Given the description of an element on the screen output the (x, y) to click on. 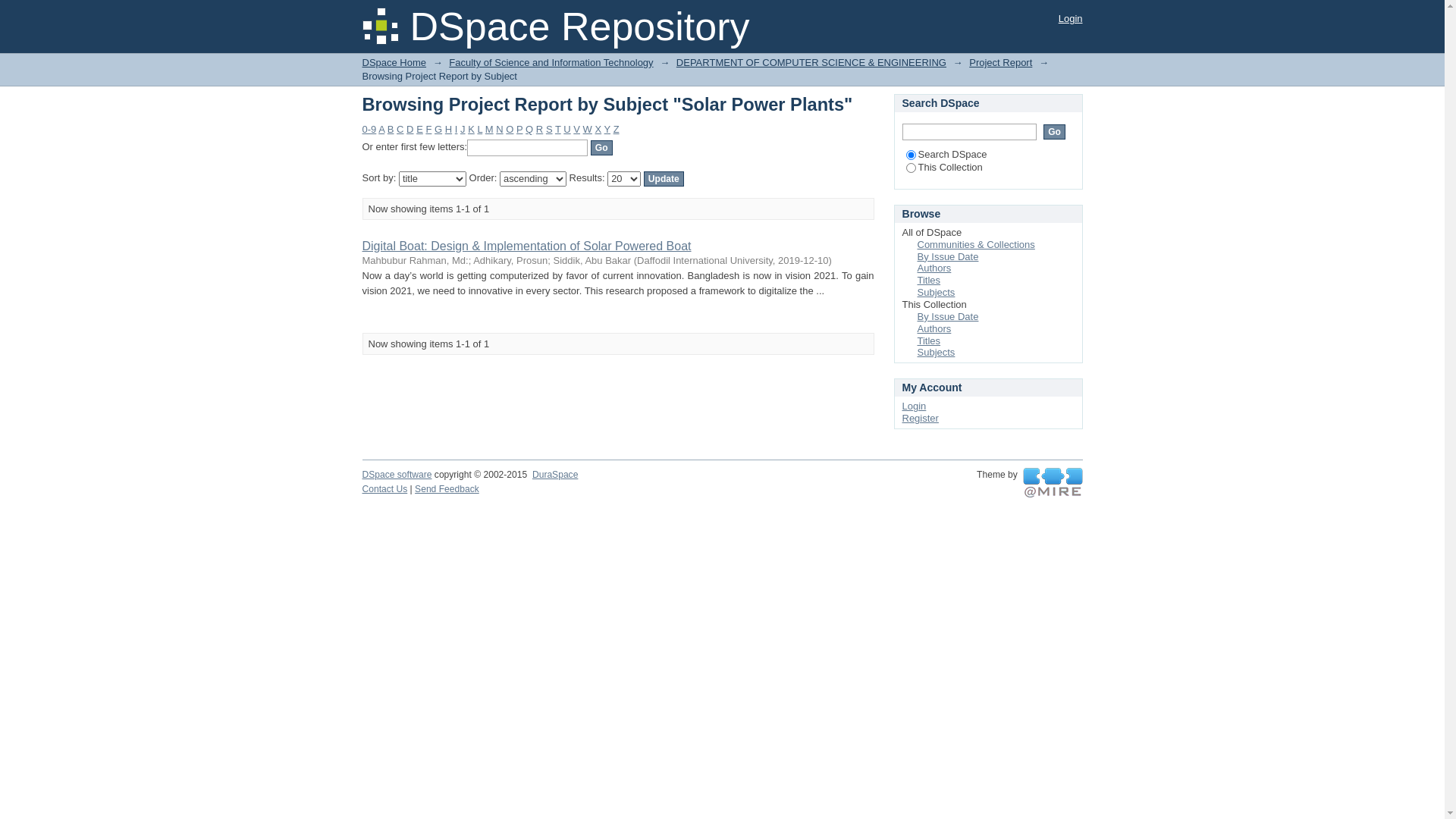
Q Element type: text (529, 128)
Subjects Element type: text (936, 292)
H Element type: text (448, 128)
By Issue Date Element type: text (948, 316)
Go Element type: text (1054, 131)
R Element type: text (539, 128)
Subjects Element type: text (936, 351)
Project Report Element type: text (1000, 62)
0-9 Element type: text (369, 128)
G Element type: text (438, 128)
E Element type: text (419, 128)
D Element type: text (409, 128)
Faculty of Science and Information Technology Element type: text (550, 62)
Contact Us Element type: text (384, 488)
M Element type: text (489, 128)
DEPARTMENT OF COMPUTER SCIENCE & ENGINEERING Element type: text (811, 62)
Browse for items that begin with these letters Element type: hover (527, 147)
Communities & Collections Element type: text (976, 244)
B Element type: text (390, 128)
Titles Element type: text (929, 340)
J Element type: text (462, 128)
T Element type: text (558, 128)
Register Element type: text (920, 417)
DSpace software Element type: text (397, 474)
DSpace Home Element type: text (394, 62)
DuraSpace Element type: text (554, 474)
C Element type: text (399, 128)
Authors Element type: text (934, 328)
N Element type: text (498, 128)
Login Element type: text (914, 405)
I Element type: text (456, 128)
W Element type: text (587, 128)
U Element type: text (566, 128)
Y Element type: text (607, 128)
Send Feedback Element type: text (446, 488)
Login Element type: text (1070, 18)
Go Element type: text (601, 147)
P Element type: text (519, 128)
By Issue Date Element type: text (948, 256)
  Element type: text (1052, 482)
Titles Element type: text (929, 279)
F Element type: text (428, 128)
L Element type: text (479, 128)
O Element type: text (509, 128)
Authors Element type: text (934, 267)
A Element type: text (381, 128)
K Element type: text (470, 128)
S Element type: text (549, 128)
Update Element type: text (663, 178)
Z Element type: text (616, 128)
X Element type: text (597, 128)
@mire NV Element type: hover (1052, 482)
V Element type: text (576, 128)
Digital Boat: Design & Implementation of Solar Powered Boat Element type: text (526, 245)
